Given the description of an element on the screen output the (x, y) to click on. 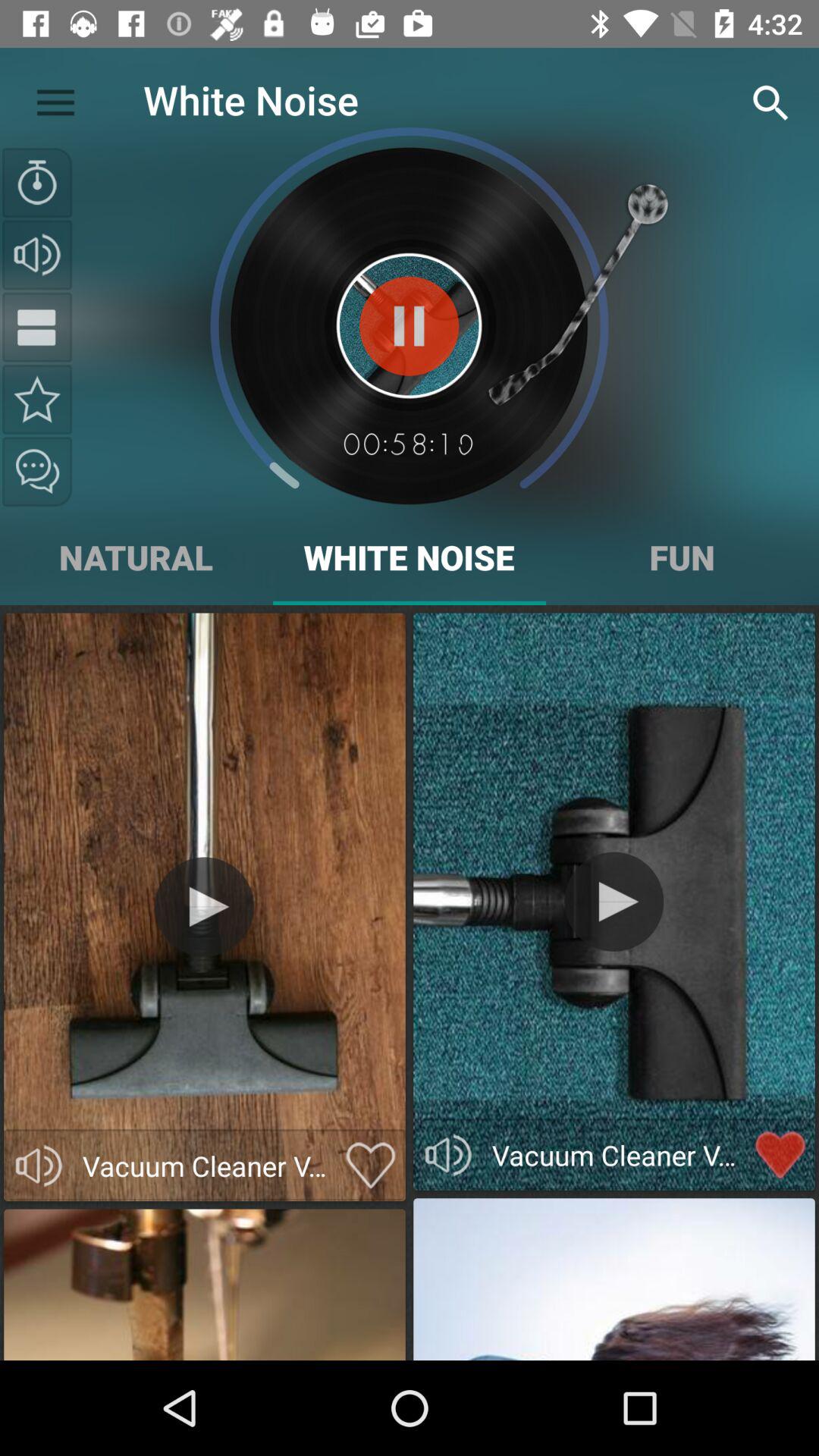
toggle timer (37, 182)
